Given the description of an element on the screen output the (x, y) to click on. 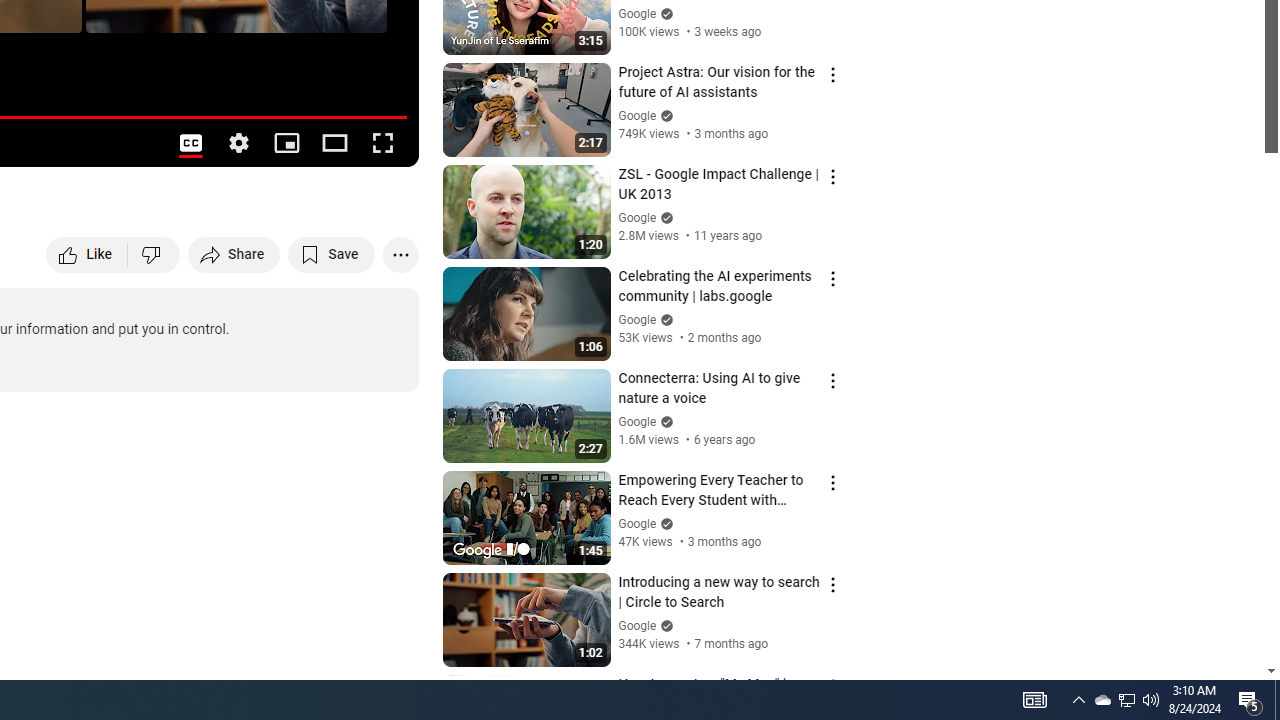
Subtitles/closed captions unavailable (190, 142)
